Given the description of an element on the screen output the (x, y) to click on. 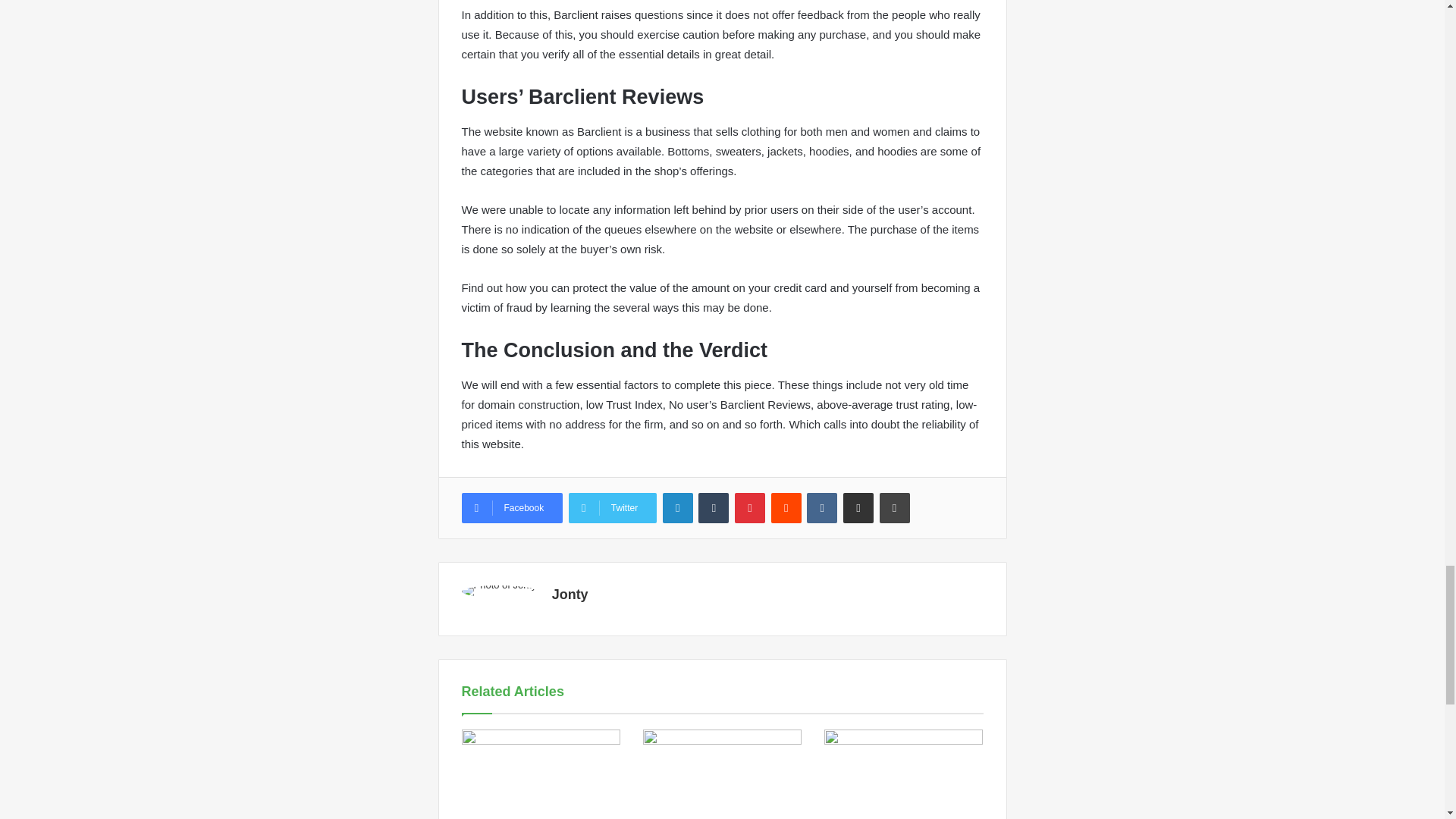
Print (894, 508)
Print (894, 508)
Facebook (511, 508)
Pinterest (750, 508)
Reddit (786, 508)
Share via Email (858, 508)
VKontakte (821, 508)
LinkedIn (677, 508)
Tumblr (713, 508)
LinkedIn (677, 508)
Jonty (569, 594)
Reddit (786, 508)
VKontakte (821, 508)
Share via Email (858, 508)
Twitter (612, 508)
